Given the description of an element on the screen output the (x, y) to click on. 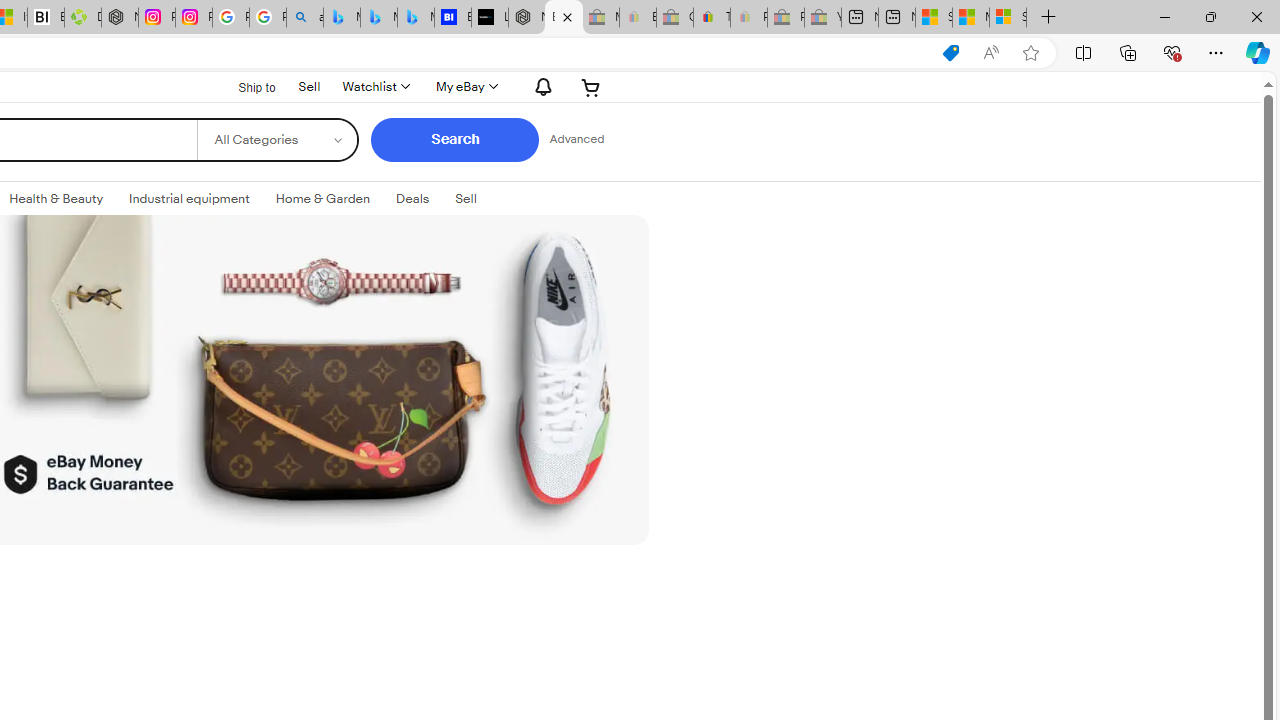
My eBayExpand My eBay (464, 86)
Threats and offensive language policy | eBay (711, 17)
Advanced Search (576, 139)
Shanghai, China hourly forecast | Microsoft Weather (934, 17)
Ship to (244, 85)
Ship to (244, 87)
Sell (308, 84)
